Given the description of an element on the screen output the (x, y) to click on. 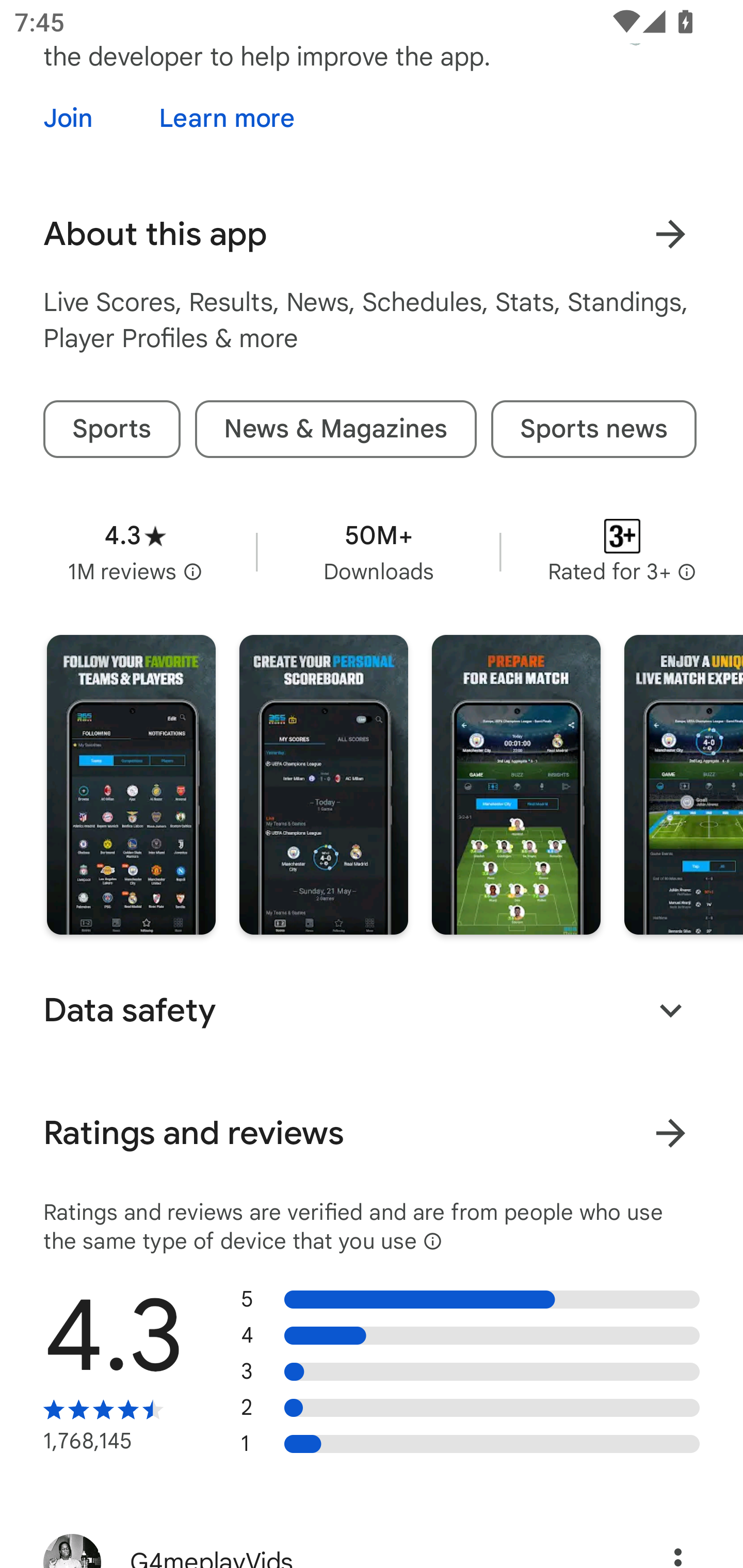
Join (86, 118)
Learn more (226, 118)
About this app Learn more About this app (371, 234)
Learn more About this app (670, 234)
Sports tag (111, 428)
News & Magazines tag (335, 428)
Sports news tag (593, 428)
Average rating 4.3 stars in 1 million reviews (135, 551)
Content rating Rated for 3+ (622, 551)
Screenshot "1" of "7" (130, 784)
Screenshot "2" of "7" (323, 784)
Screenshot "3" of "7" (515, 784)
Screenshot "4" of "7" (683, 784)
Data safety Expand (371, 1010)
Expand (670, 1010)
Ratings and reviews View all ratings and reviews (371, 1132)
View all ratings and reviews (670, 1132)
Options (655, 1543)
